Given the description of an element on the screen output the (x, y) to click on. 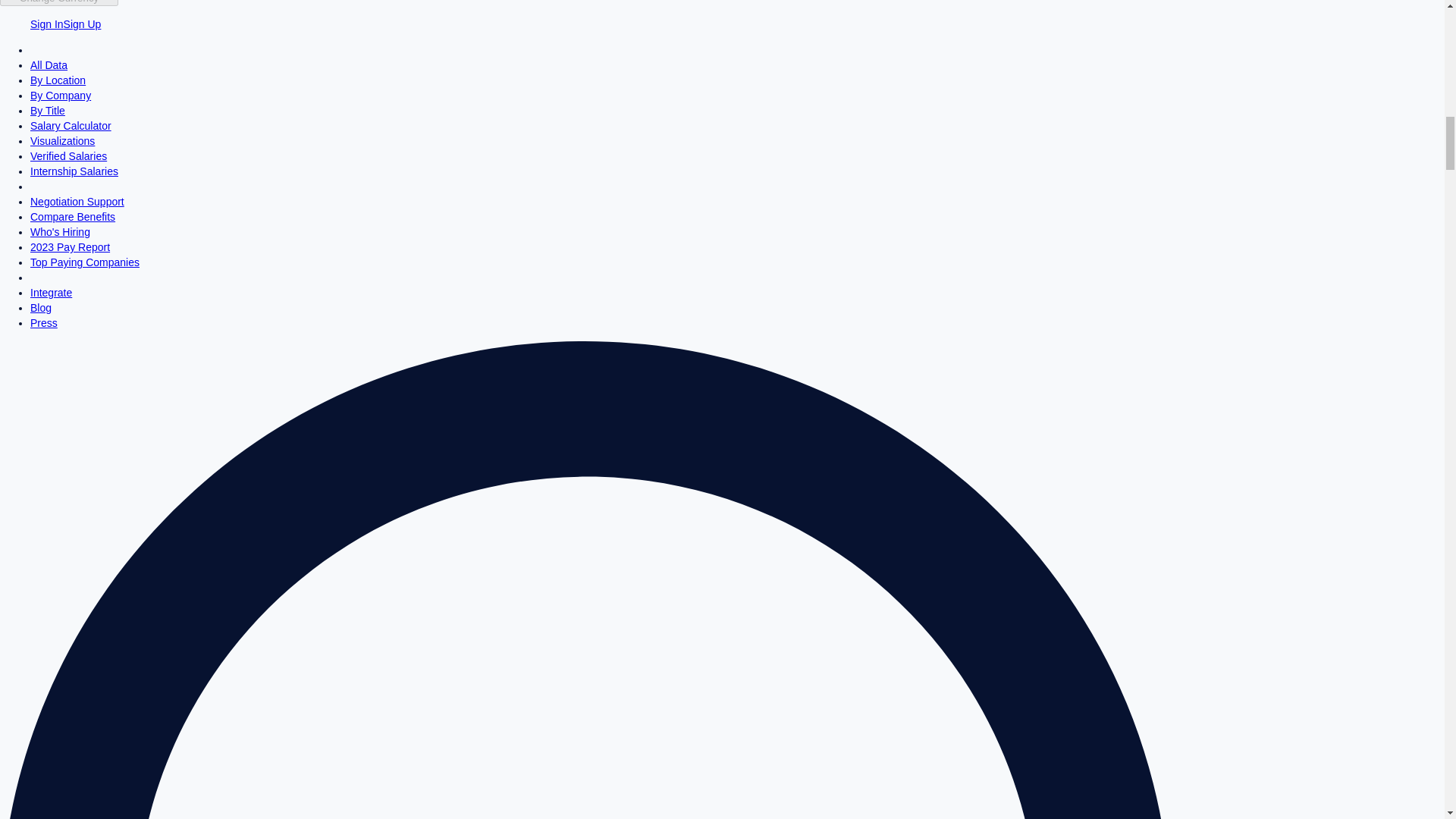
Internship Salaries (73, 171)
By Location (57, 80)
Top Paying Companies (84, 262)
2023 Pay Report (70, 246)
Press (44, 322)
Compare Benefits (72, 216)
All Data (48, 64)
Integrate (50, 292)
Blog (40, 307)
Salary Calculator (71, 125)
Visualizations (62, 141)
By Title (47, 110)
Sign In (47, 24)
Sign Up (82, 24)
Who's Hiring (60, 232)
